Given the description of an element on the screen output the (x, y) to click on. 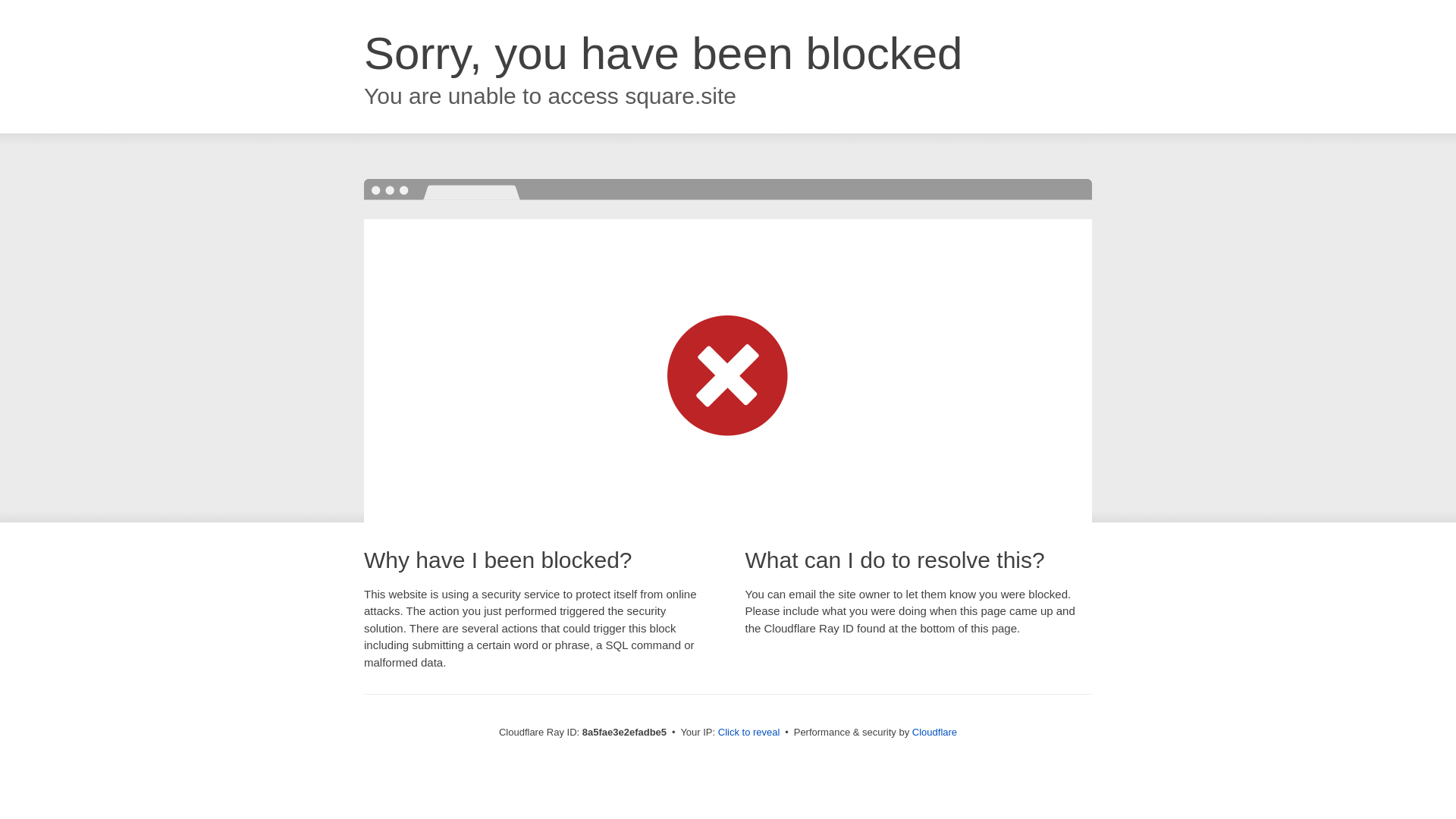
Cloudflare (934, 731)
Click to reveal (748, 732)
